Given the description of an element on the screen output the (x, y) to click on. 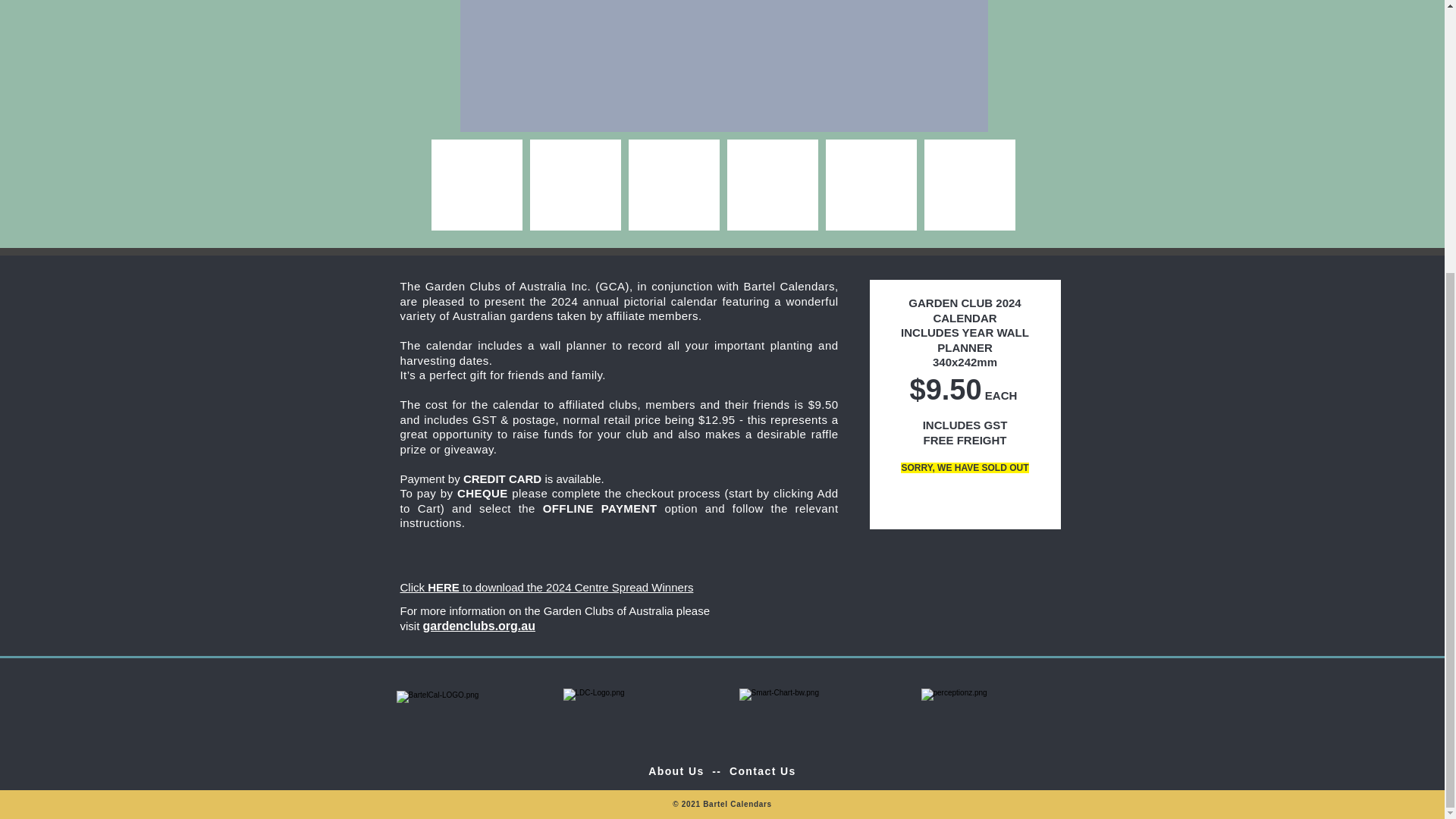
gardenclubs.org.au (479, 625)
About Us  --   (688, 770)
Contact Us (762, 770)
Click HERE to download the 2024 Centre Spread Winners (547, 585)
